Given the description of an element on the screen output the (x, y) to click on. 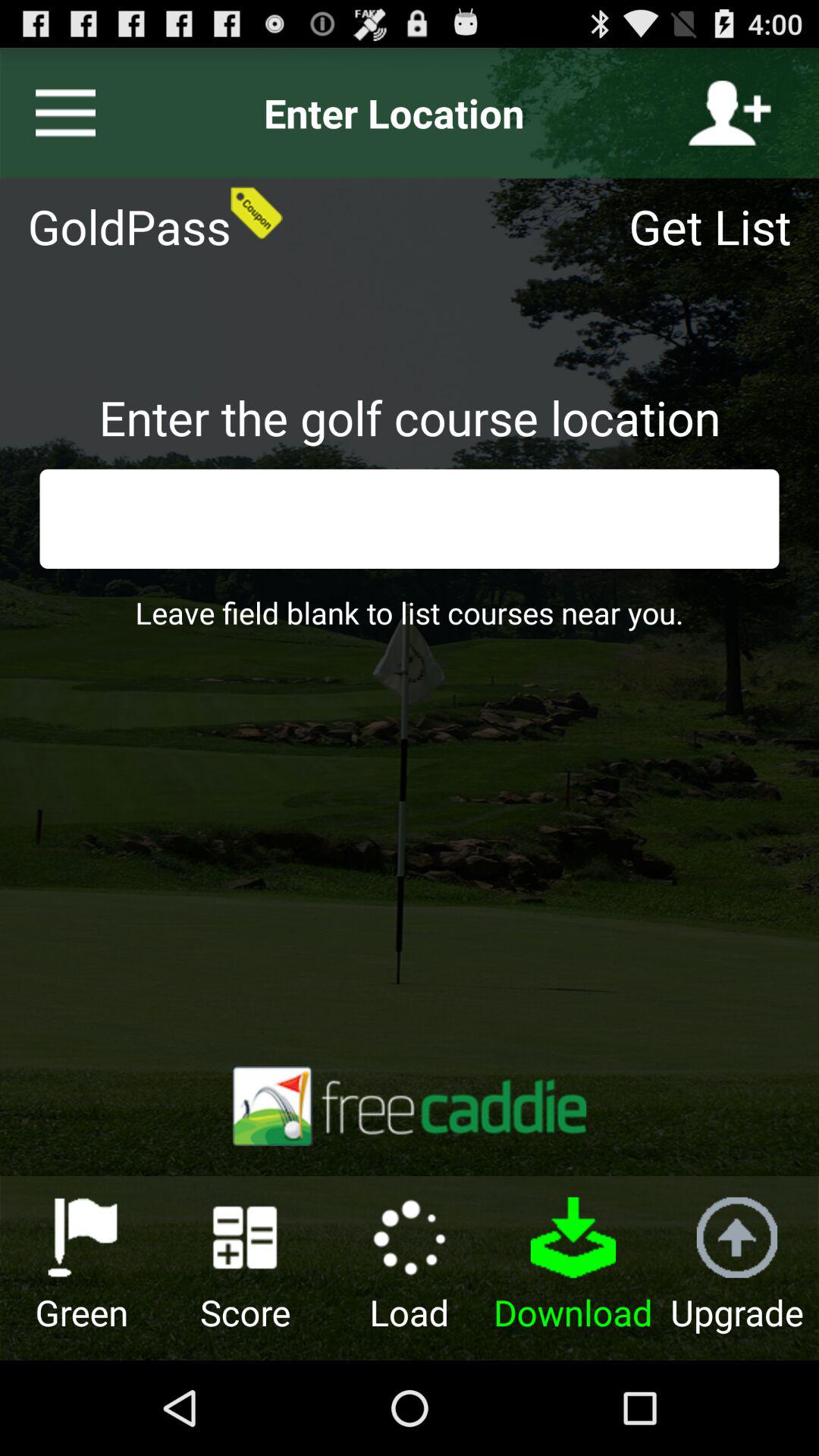
choose the app above the enter the golf (720, 226)
